Given the description of an element on the screen output the (x, y) to click on. 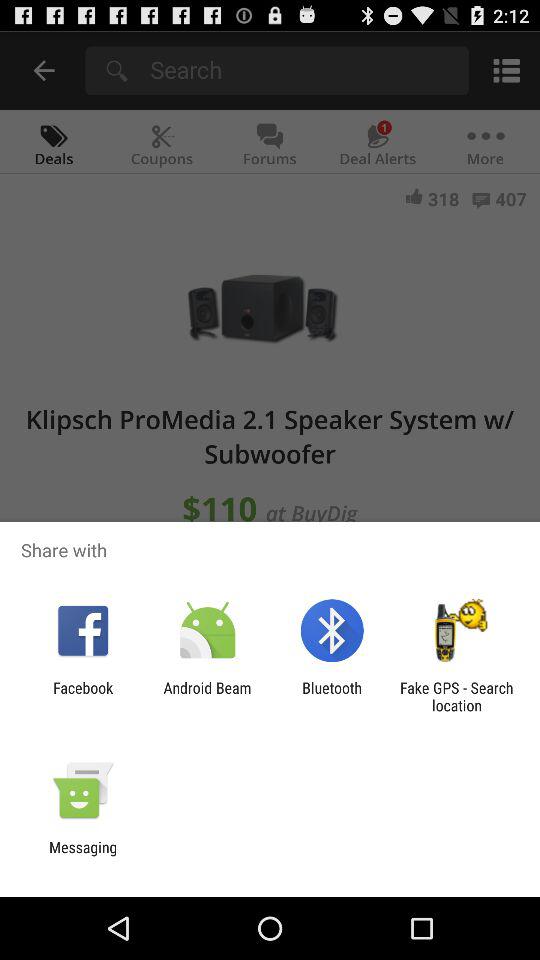
turn off app next to fake gps search icon (331, 696)
